Given the description of an element on the screen output the (x, y) to click on. 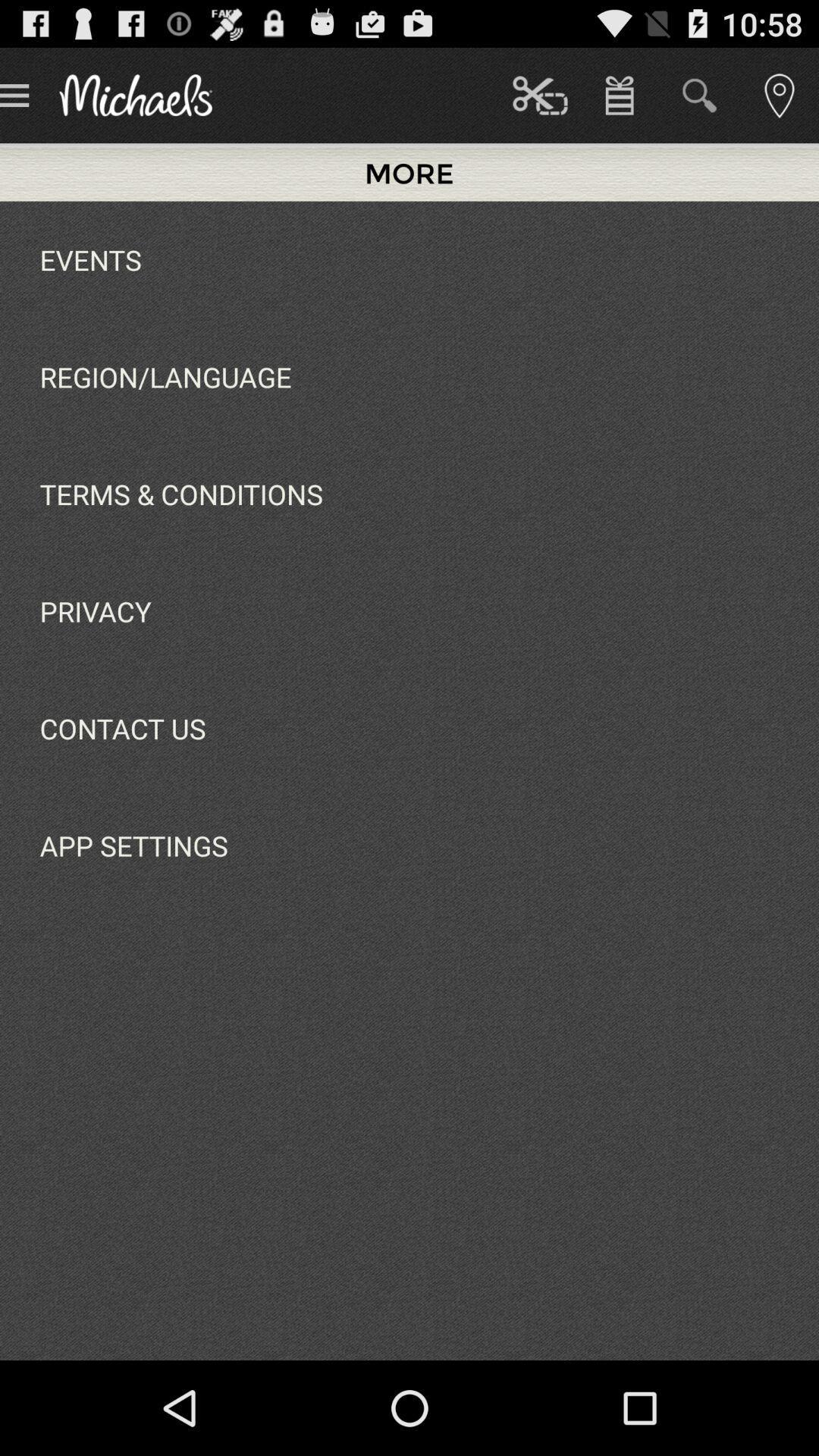
select app below events app (165, 376)
